Given the description of an element on the screen output the (x, y) to click on. 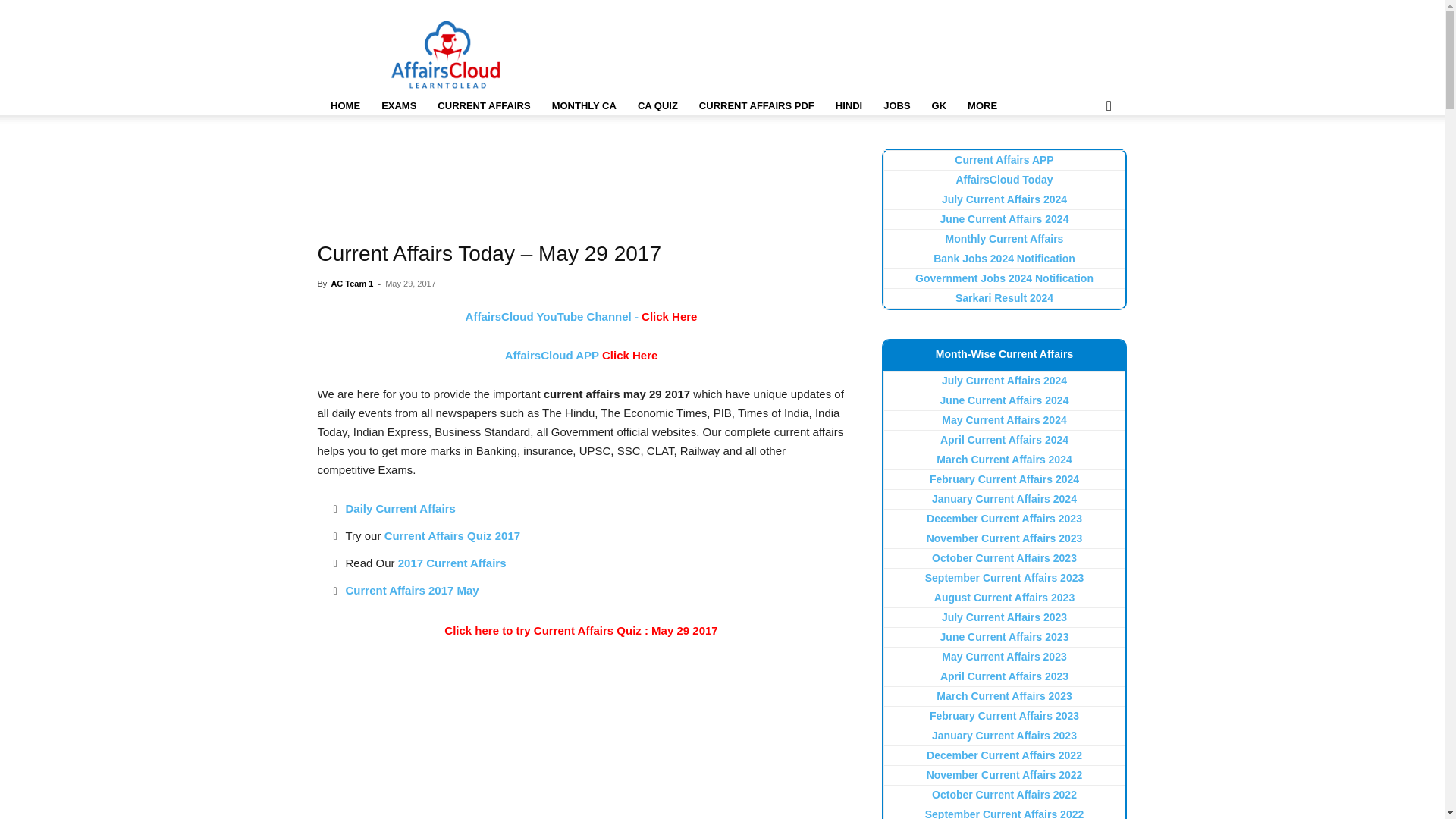
Home (344, 105)
Current Affairs (483, 105)
Current Affairs Quiz (657, 105)
Current Affairs Hindi (848, 105)
AffairsCloud (446, 55)
Current Affairs PDF (756, 105)
